Given the description of an element on the screen output the (x, y) to click on. 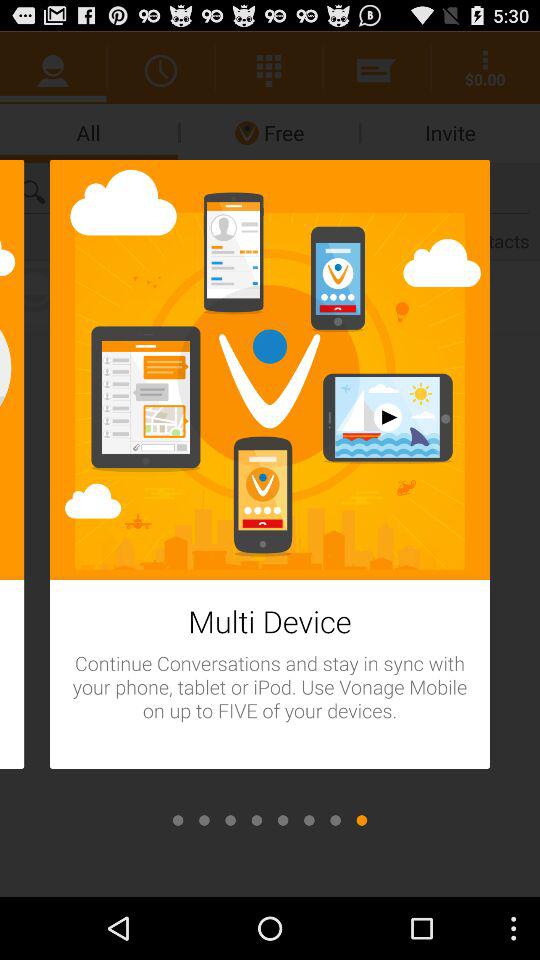
switch to additional info (204, 820)
